Given the description of an element on the screen output the (x, y) to click on. 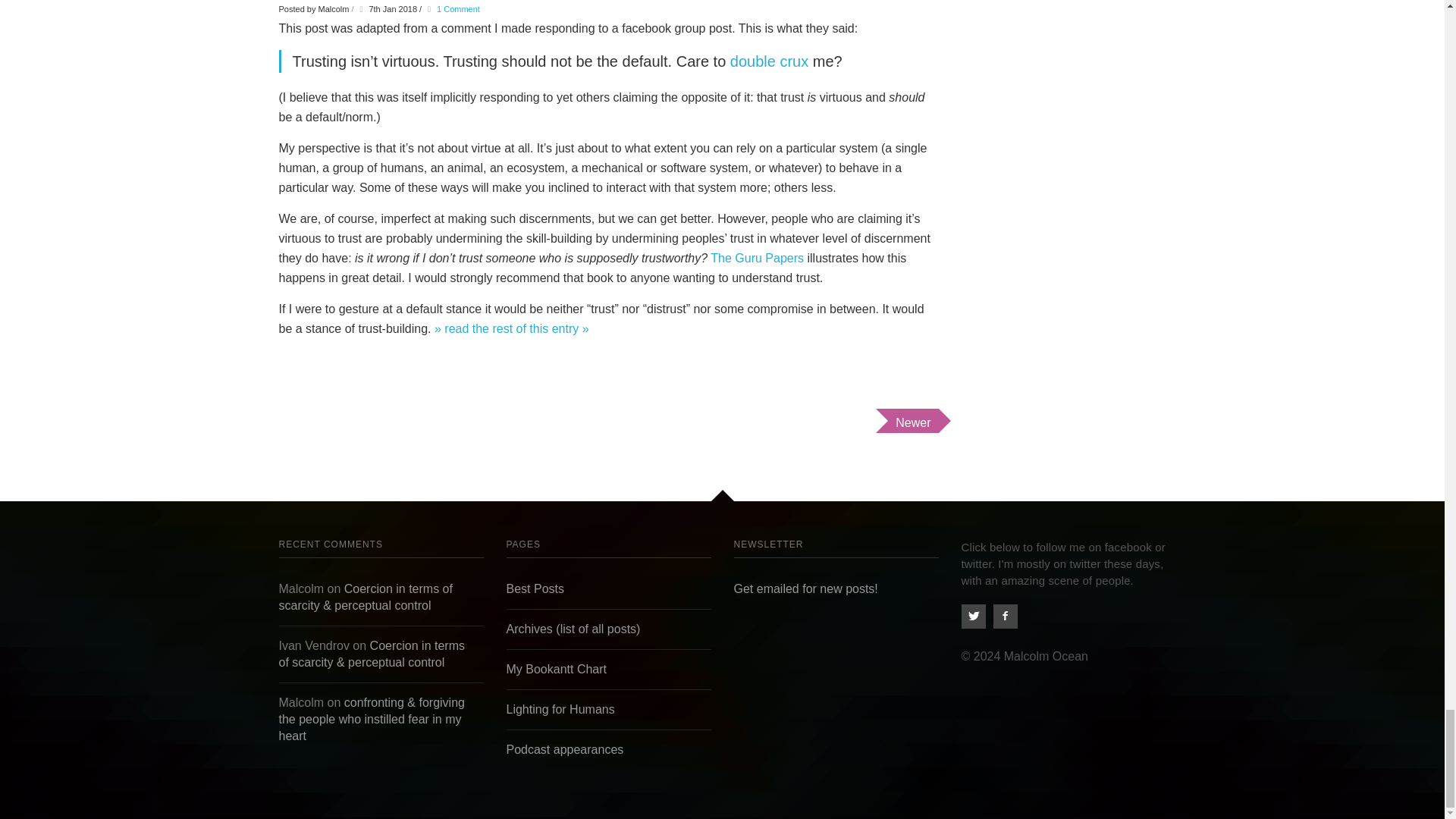
1 Comment (458, 8)
